Given the description of an element on the screen output the (x, y) to click on. 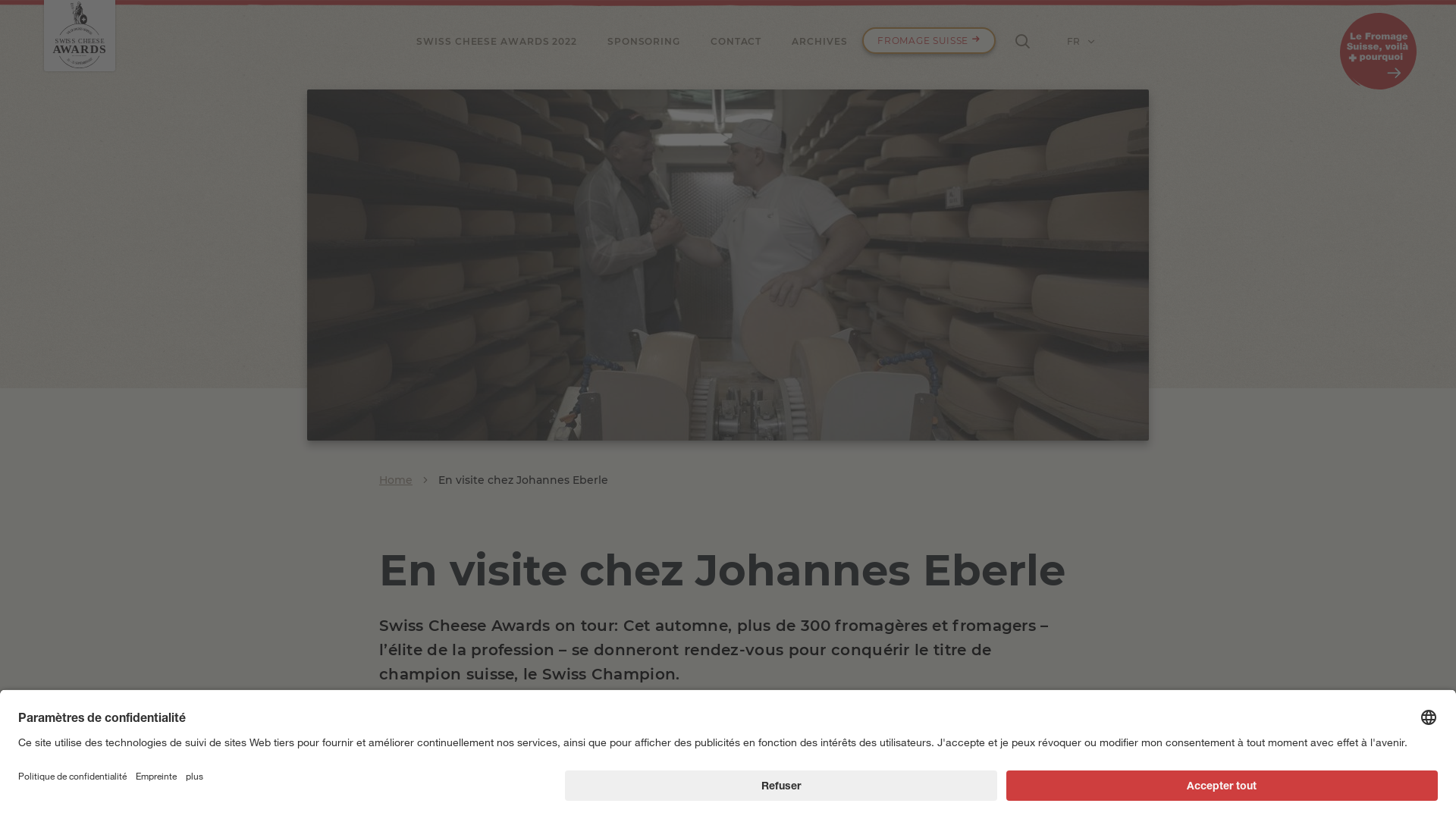
SWISS CHEESE AWARDS 2022 Element type: text (496, 41)
Home Element type: text (395, 479)
En visite chez Johannes Eberle Element type: text (523, 479)
CONTACT Element type: text (735, 41)
ARCHIVES Element type: text (819, 41)
SPONSORING Element type: text (643, 41)
